Given the description of an element on the screen output the (x, y) to click on. 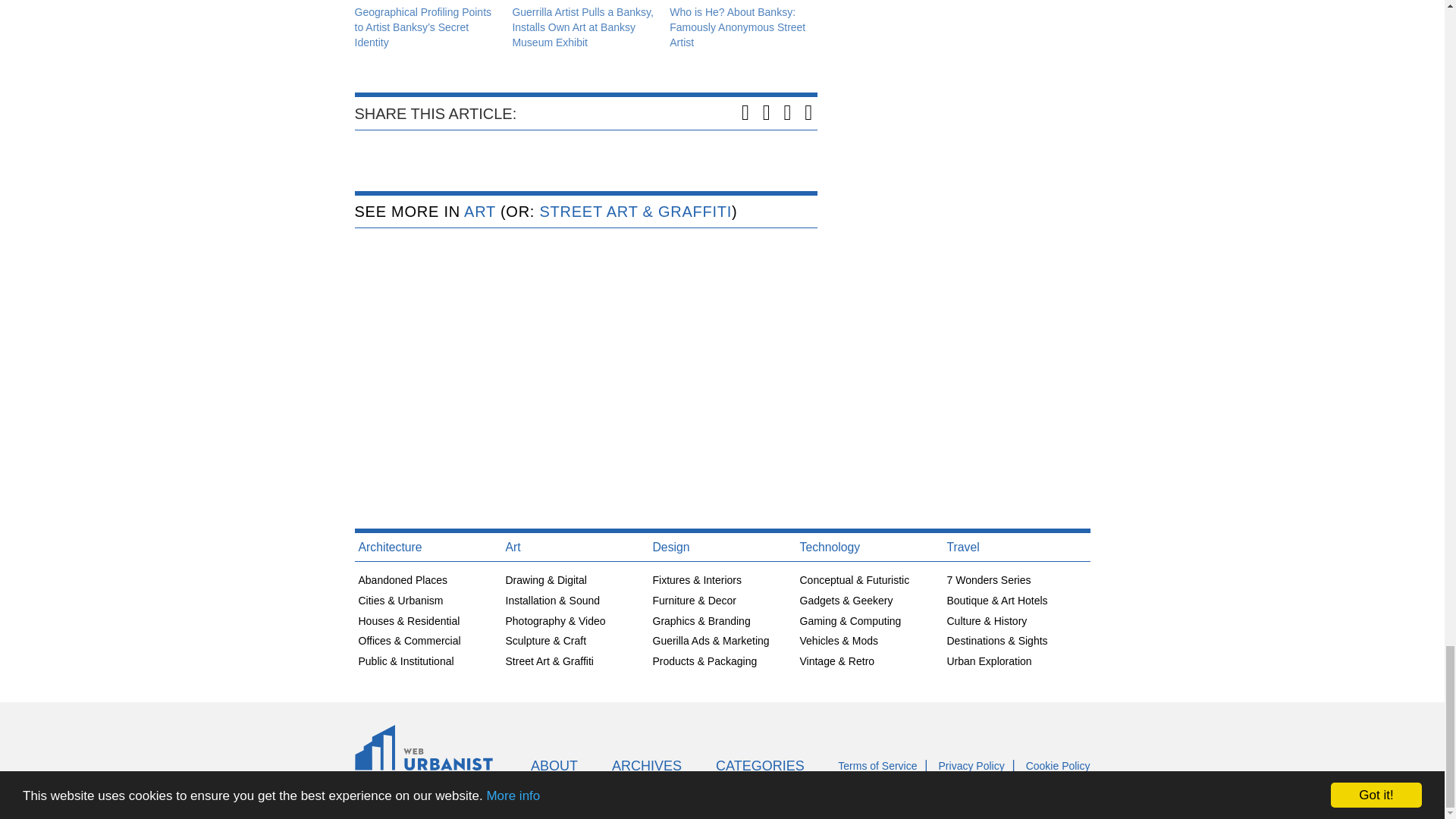
Who is He? About Banksy: Famously Anonymous Street Artist (737, 26)
Who is He? About Banksy: Famously Anonymous Street Artist (737, 26)
Who is He? About Banksy: Famously Anonymous Street Artist (740, 2)
